Given the description of an element on the screen output the (x, y) to click on. 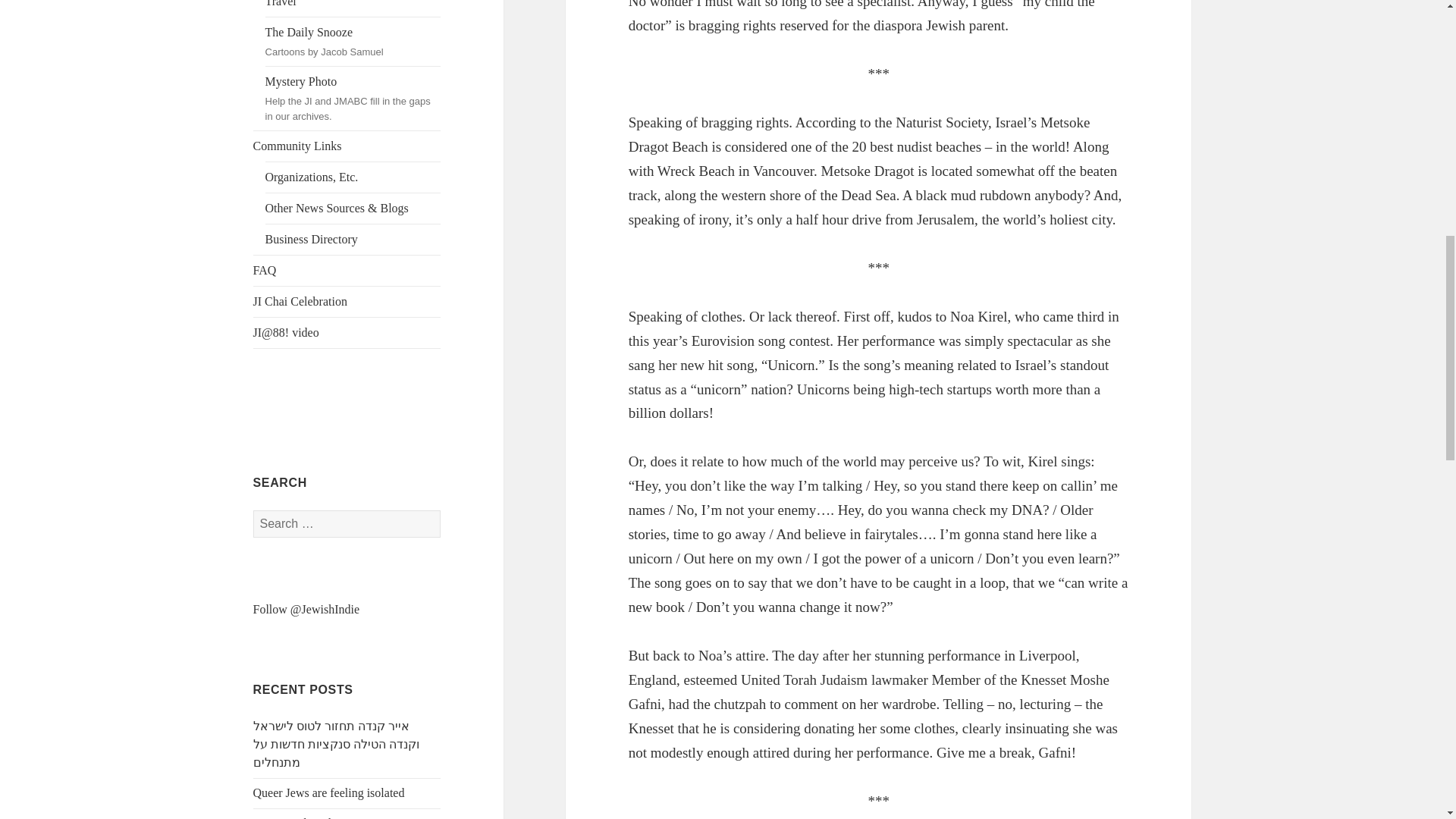
FAQ (347, 270)
Queer Jews are feeling isolated (328, 792)
Travel (352, 8)
Organizations, Etc. (352, 177)
Enjoy Bach with a twist (352, 41)
Business Directory (311, 817)
